Given the description of an element on the screen output the (x, y) to click on. 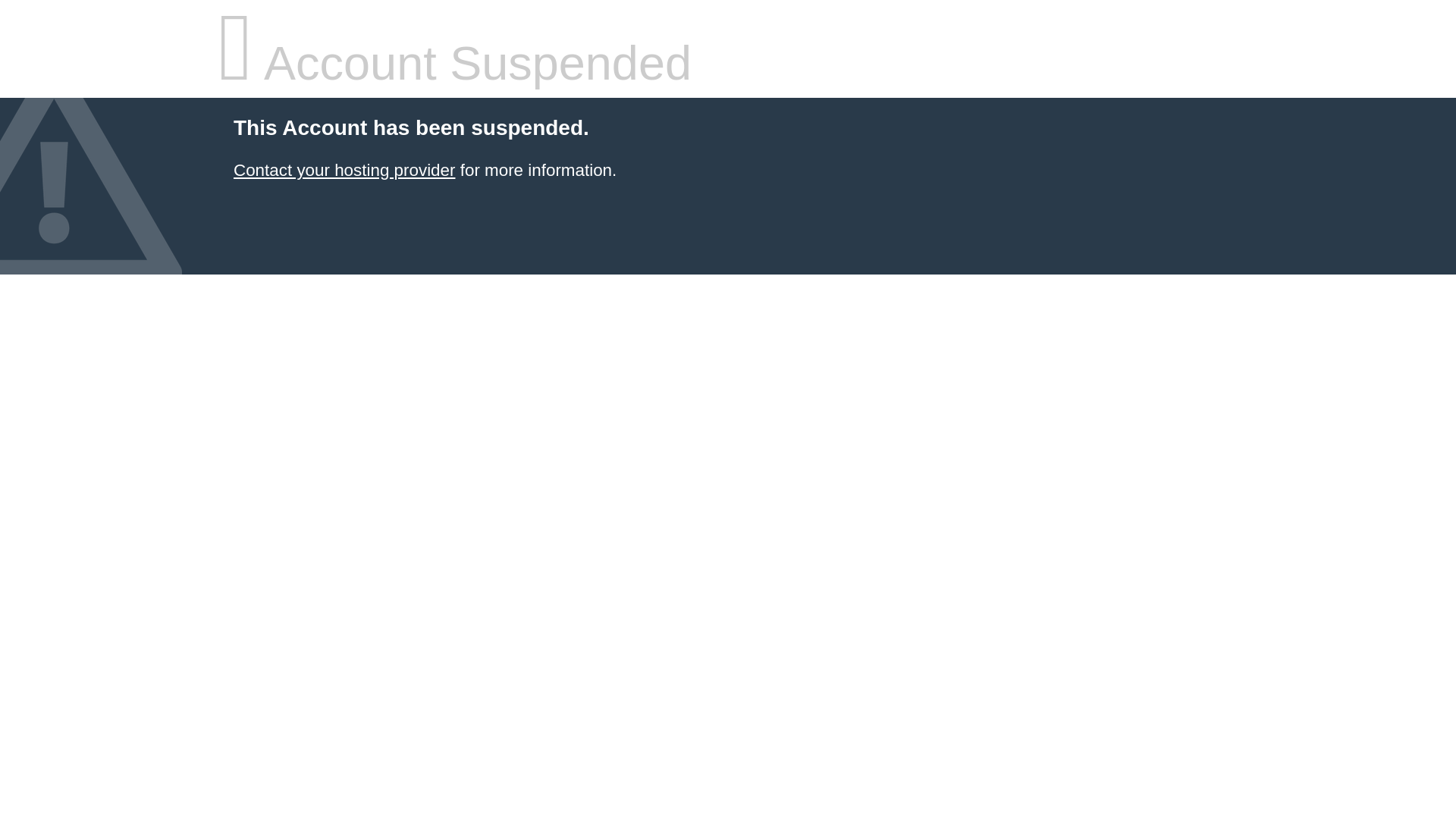
Contact your hosting provider (343, 169)
